Given the description of an element on the screen output the (x, y) to click on. 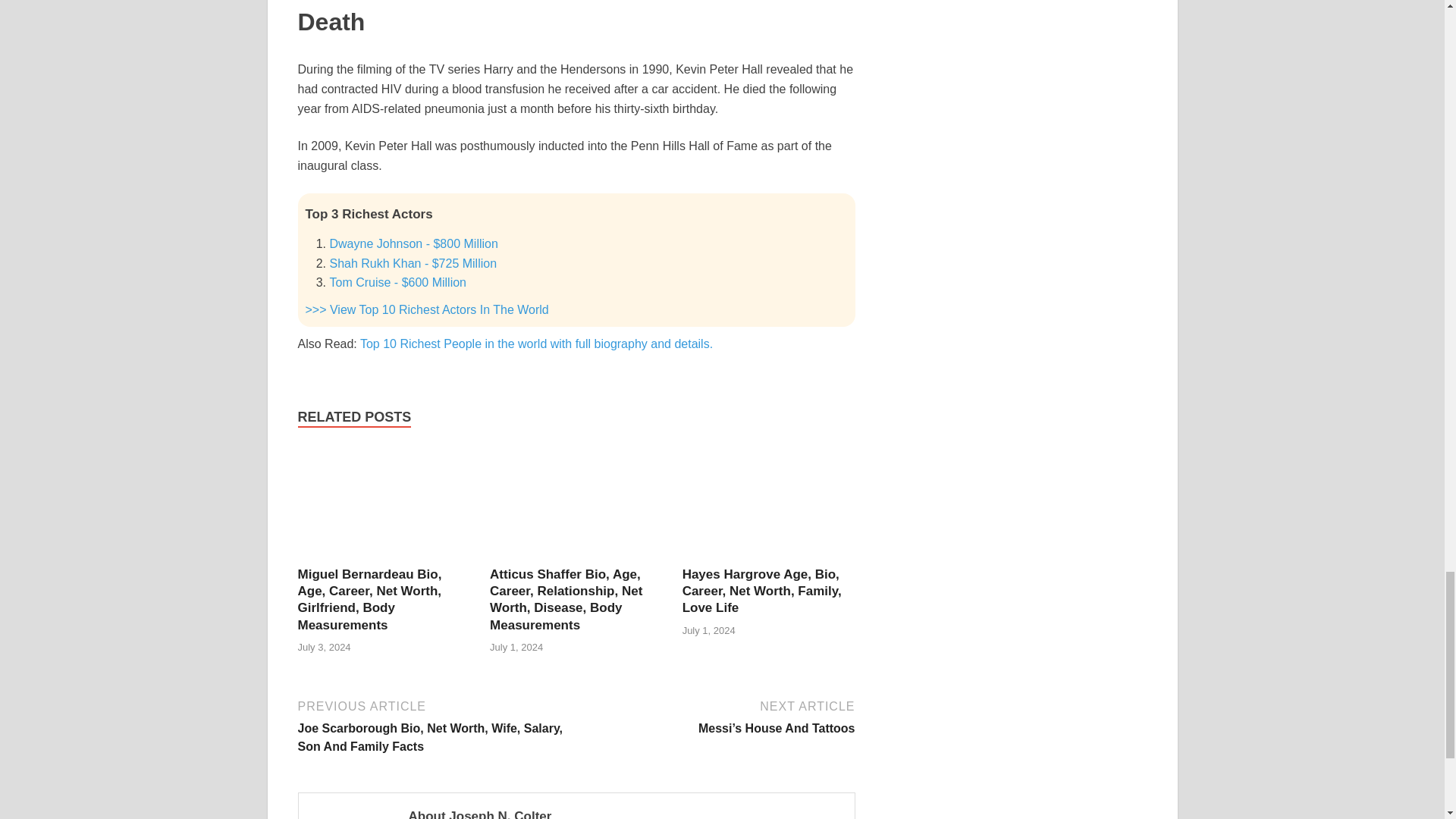
Tom Cruise (397, 282)
Shah Rukh Khan (412, 263)
Dwayne Johnson (413, 243)
